Given the description of an element on the screen output the (x, y) to click on. 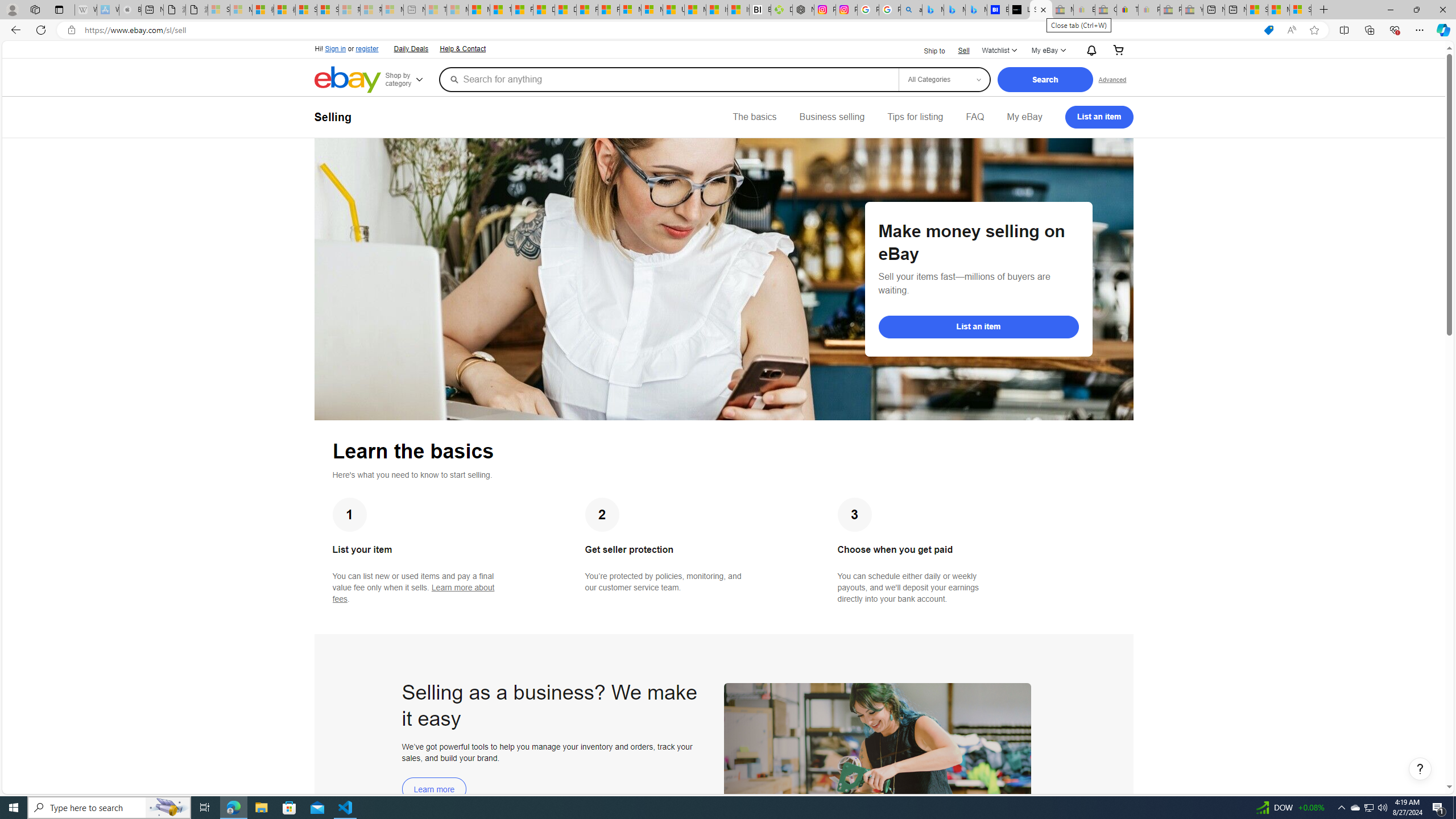
Foo BAR | Trusted Community Engagement and Contributions (608, 9)
Learn more about fees - opens in new window or tab. (413, 593)
Microsoft Services Agreement - Sleeping (241, 9)
eBay Home (347, 79)
Top Stories - MSN - Sleeping (435, 9)
FAQ (974, 116)
Tips for listing (914, 116)
